Given the description of an element on the screen output the (x, y) to click on. 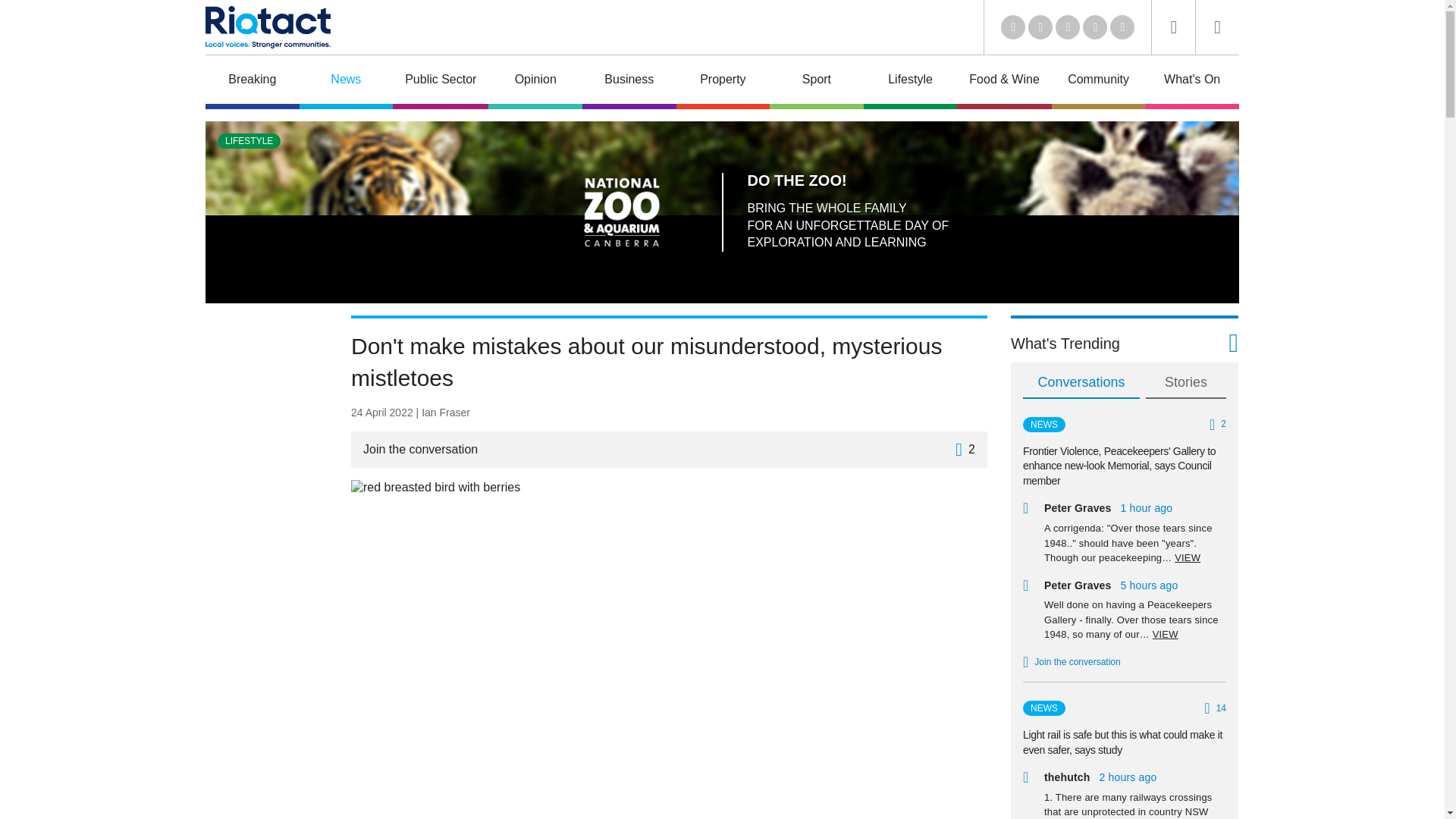
Youtube (1067, 27)
Facebook (1094, 27)
Riotact Home (267, 26)
LinkedIn (1013, 27)
Instagram (1121, 27)
News (346, 81)
Breaking (252, 81)
Twitter (1039, 27)
